Given the description of an element on the screen output the (x, y) to click on. 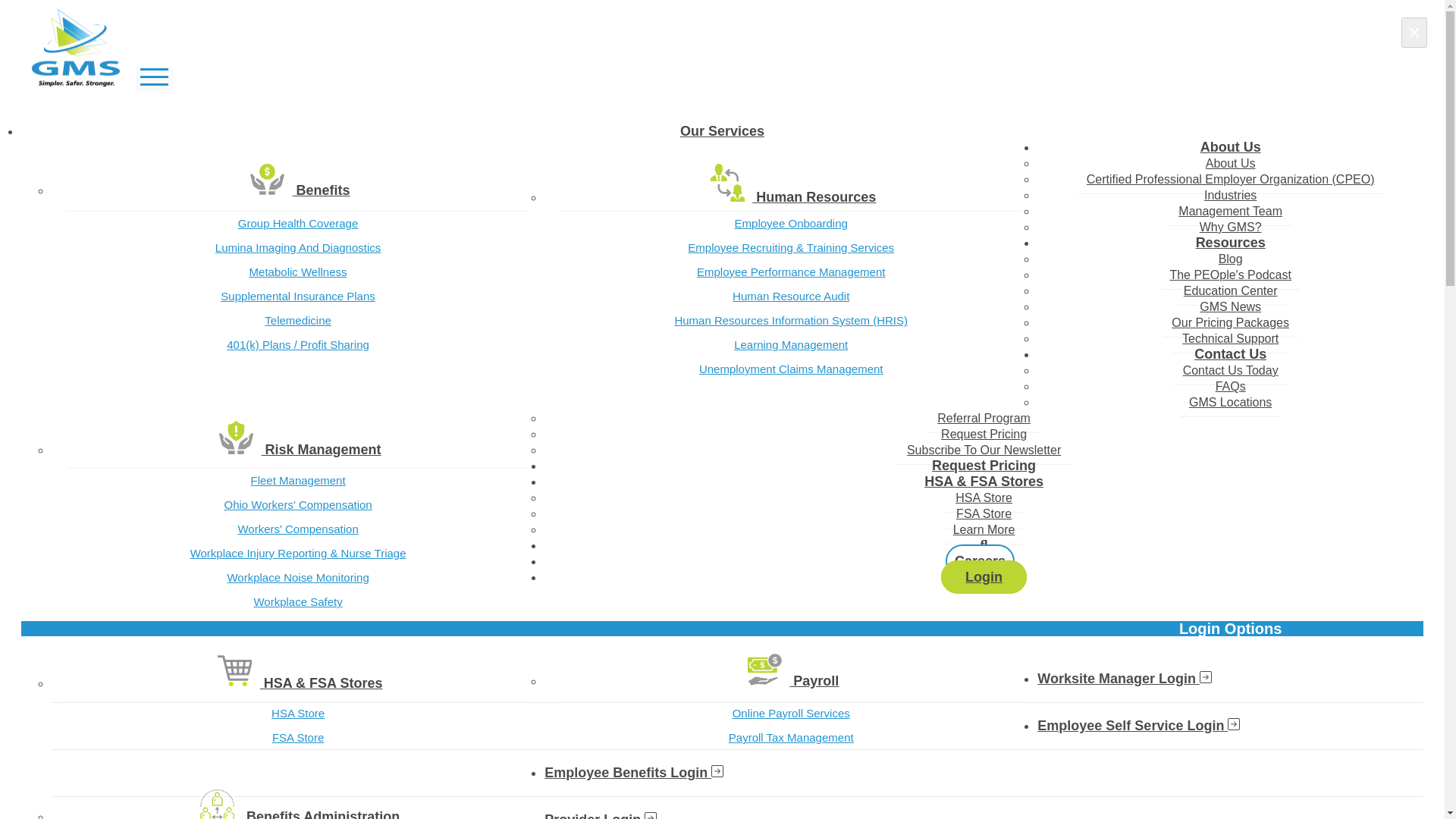
About Us (1230, 146)
HSA Store (297, 713)
Ohio Workers' Compensation (297, 504)
Workers' Compensation (297, 528)
Human Resource Audit (790, 296)
About Us (1230, 163)
Unemployment Claims Management (790, 369)
Fleet Management (297, 480)
Metabolic Wellness (297, 272)
Group Health Coverage (297, 223)
